Given the description of an element on the screen output the (x, y) to click on. 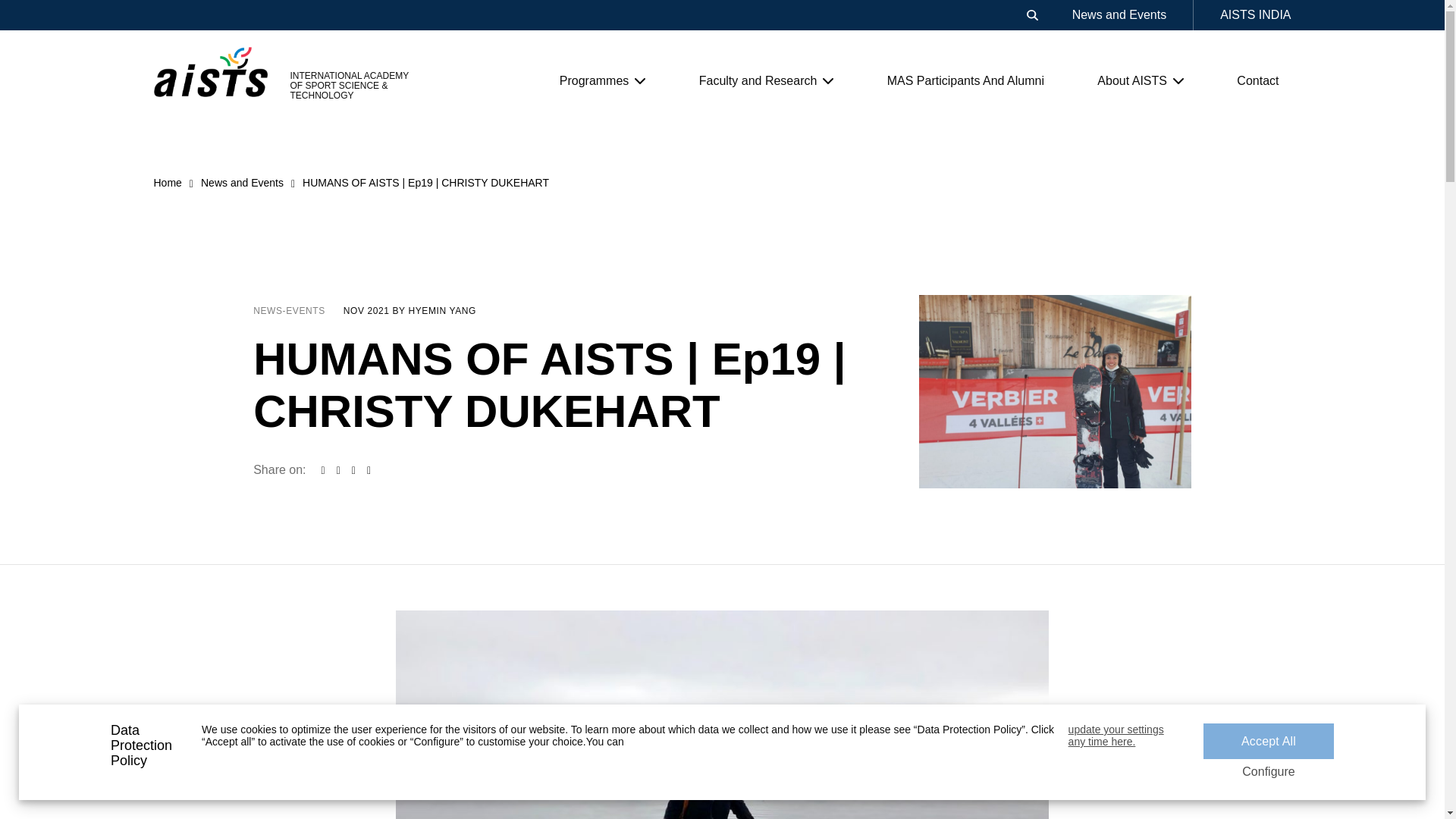
MAS Participants And Alumni (964, 80)
Contact (1257, 80)
AISTS INDIA (1255, 15)
News and Events (1119, 15)
AISTS INDIA (1255, 15)
Faculty and Research (766, 80)
Programmes (602, 80)
Faculty and Research (766, 80)
Programmes (602, 80)
About AISTS (1140, 80)
